Given the description of an element on the screen output the (x, y) to click on. 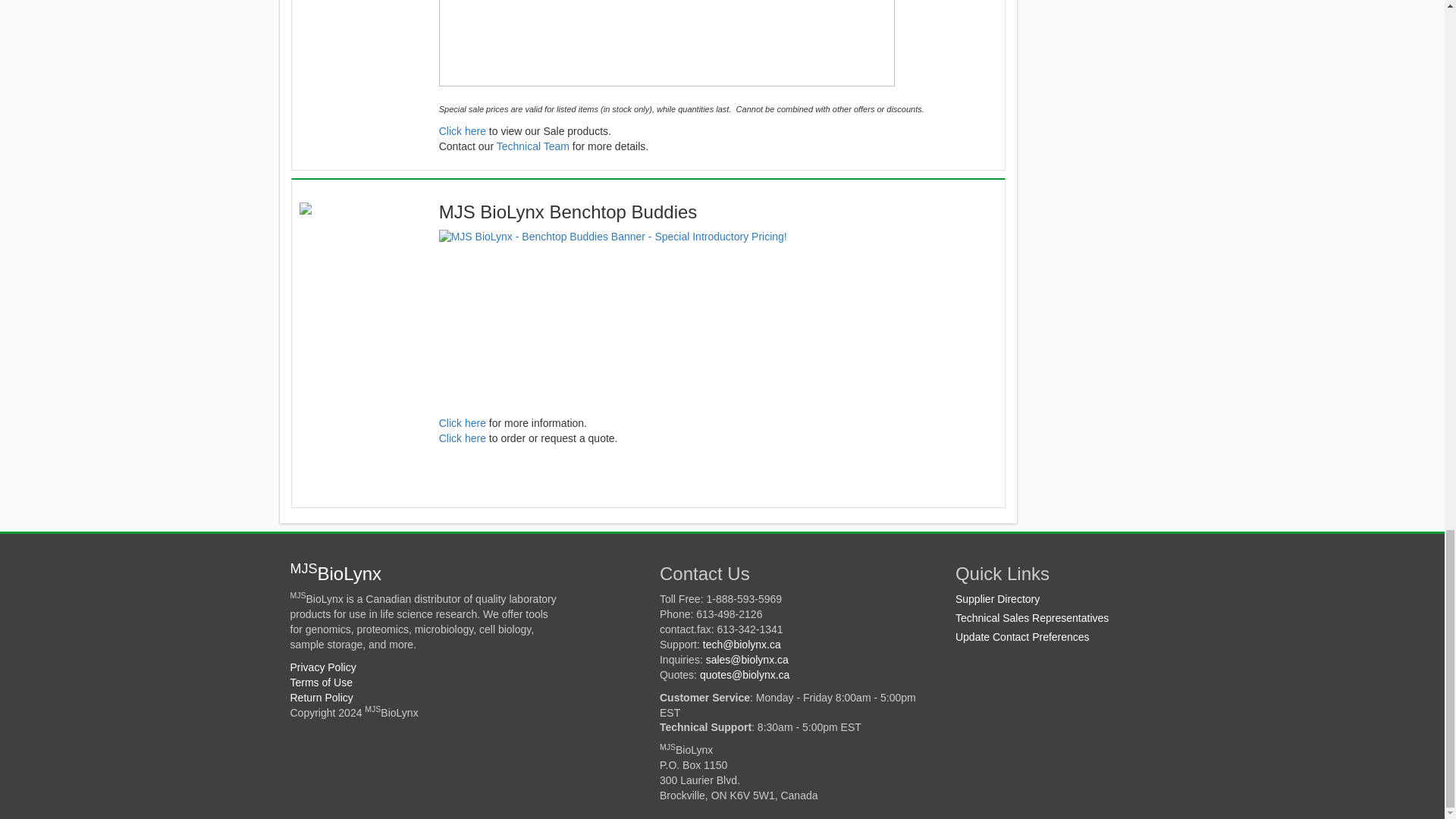
Terms of Use (320, 682)
Technical Team (532, 146)
Click here (462, 131)
Click here (462, 422)
Return Policy (320, 697)
Click here (462, 438)
Privacy Policy (322, 666)
